Given the description of an element on the screen output the (x, y) to click on. 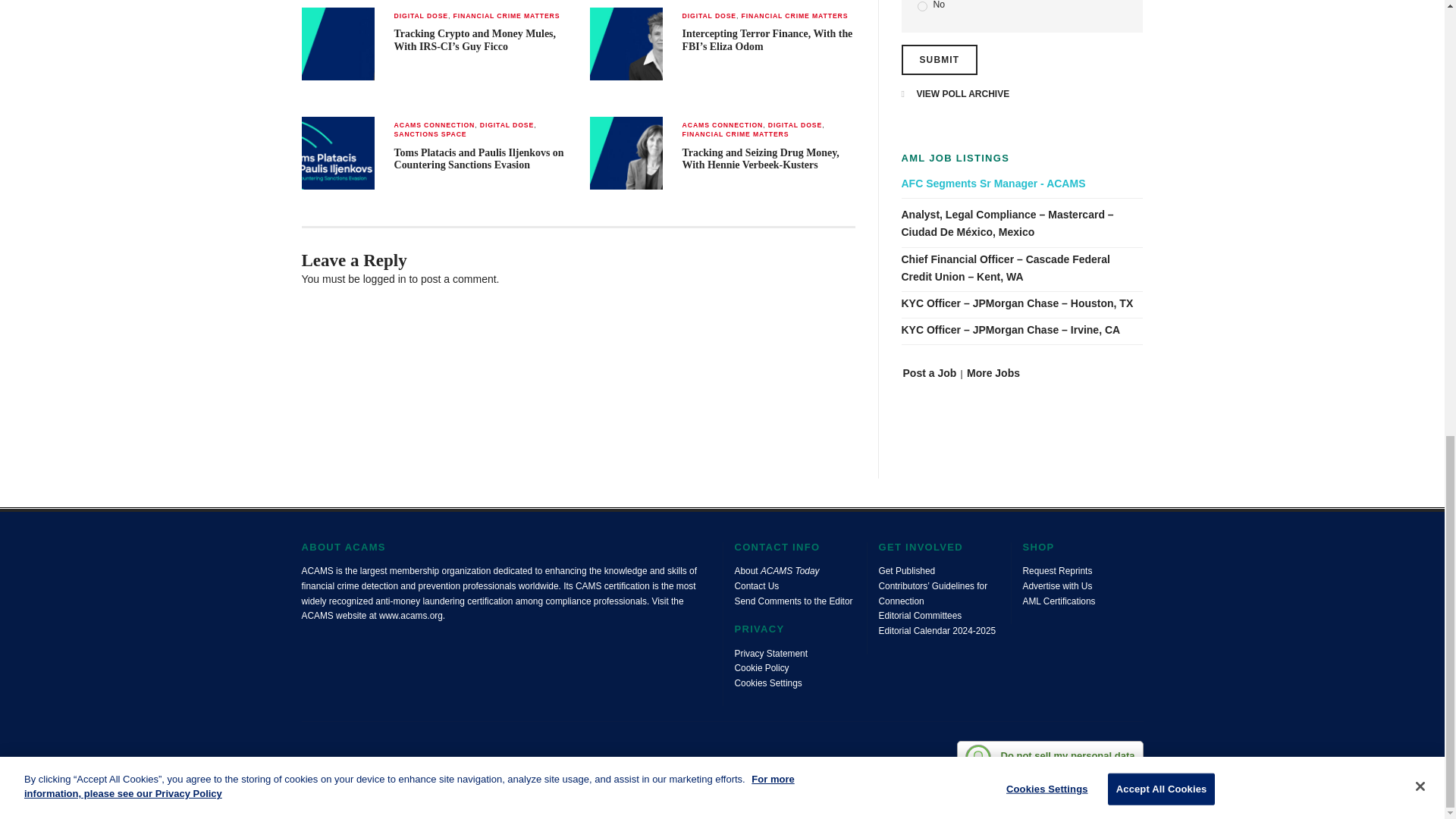
Submit (938, 60)
KYC Officer - JPMorgan Chase - Houston, TX (1021, 303)
No (922, 6)
KYC Officer - JPMorgan Chase - Irvine, CA (1021, 330)
AFC Segments Sr Manager - ACAMS (1021, 183)
